Given the description of an element on the screen output the (x, y) to click on. 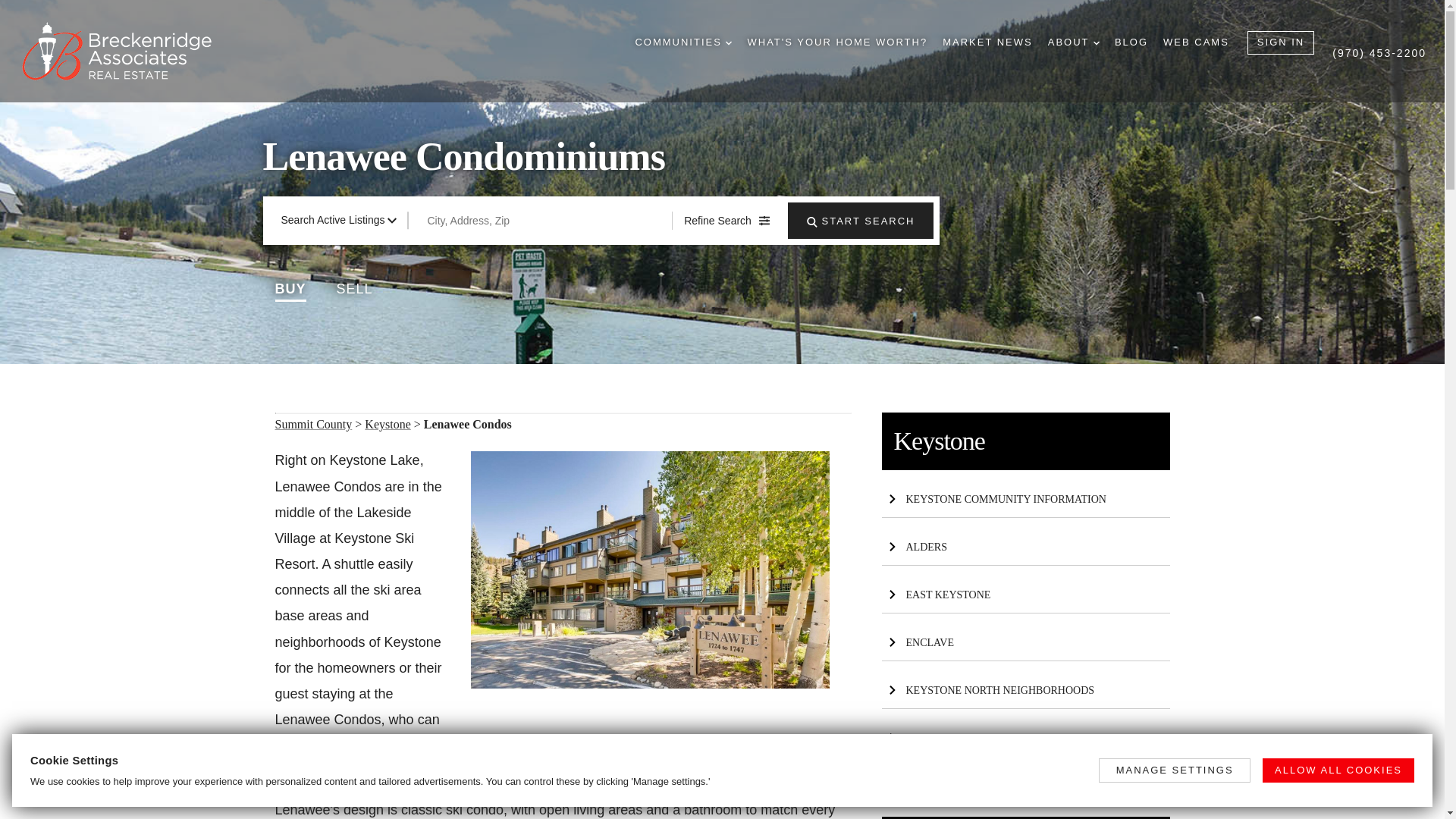
Change current sort option to sell (354, 289)
WEB CAMS (1195, 42)
SEARCH (811, 222)
Search Active Listings (338, 220)
MARKET NEWS (987, 42)
SIGN IN (1280, 42)
ABOUT DROPDOWN ARROW (1073, 42)
Change current sort option to buy (289, 289)
DROPDOWN ARROW (1096, 42)
COMMUNITIES DROPDOWN ARROW (683, 42)
